Given the description of an element on the screen output the (x, y) to click on. 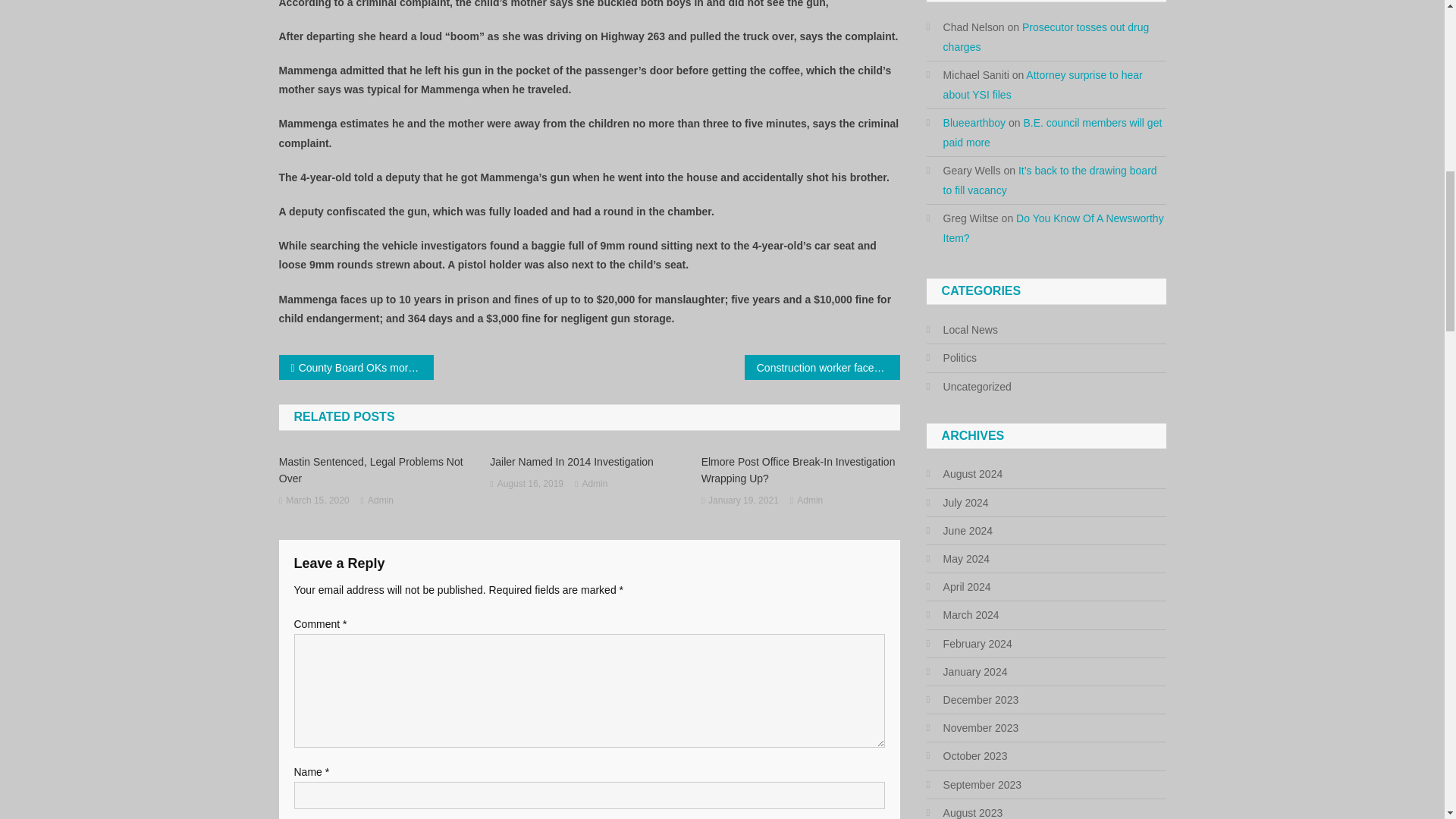
Admin (380, 501)
Do You Know Of A Newsworthy Item? (1053, 228)
Attorney surprise to hear about YSI files (1042, 84)
Admin (593, 484)
Mastin Sentenced, Legal Problems Not Over (378, 469)
Admin (809, 501)
Prosecutor tosses out drug charges (1046, 37)
January 19, 2021 (742, 501)
Jailer Named In 2014 Investigation (588, 461)
County Board OKs more money for Abdo (356, 367)
